Given the description of an element on the screen output the (x, y) to click on. 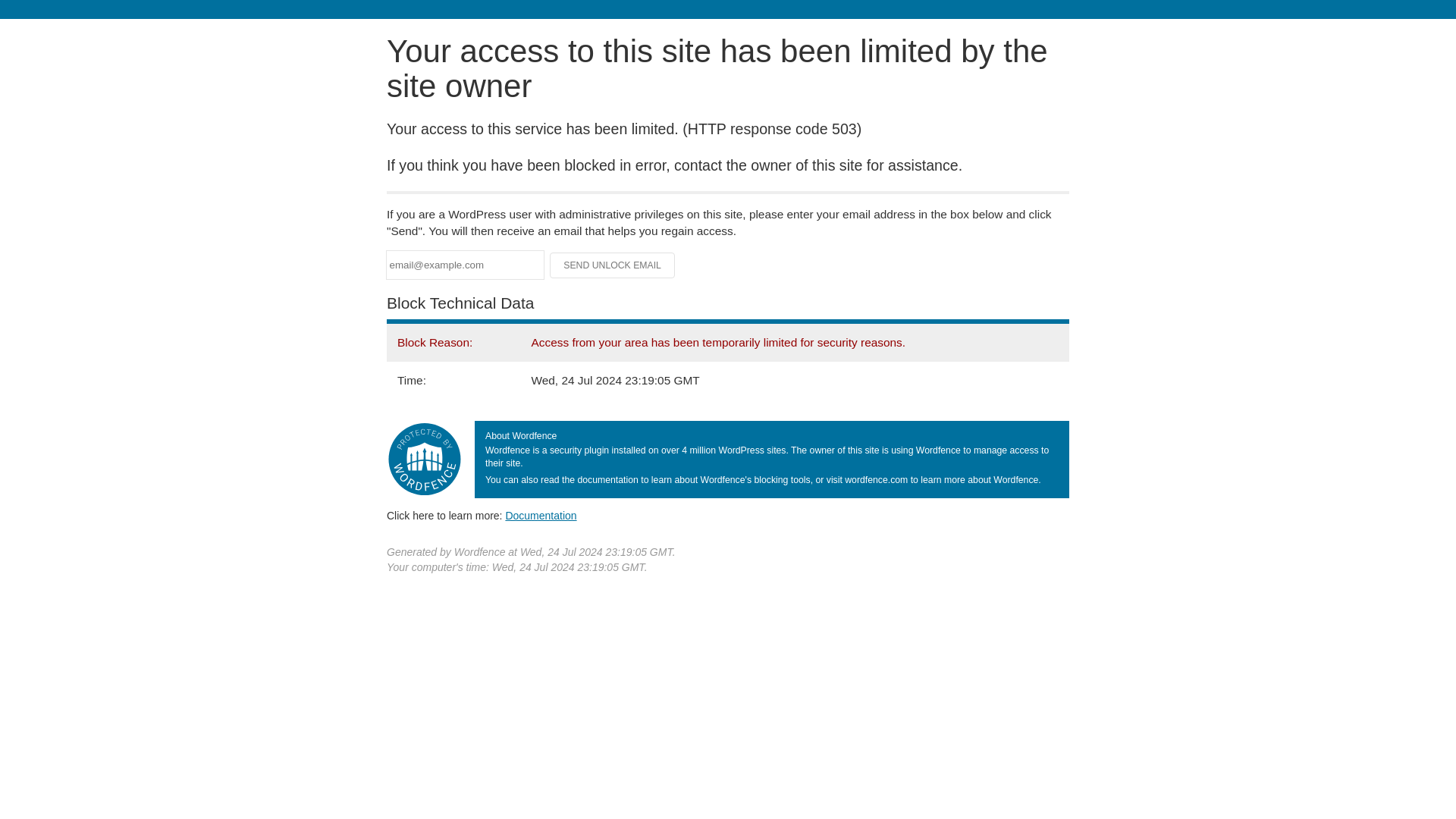
Send Unlock Email (612, 265)
Send Unlock Email (612, 265)
Documentation (540, 515)
